Given the description of an element on the screen output the (x, y) to click on. 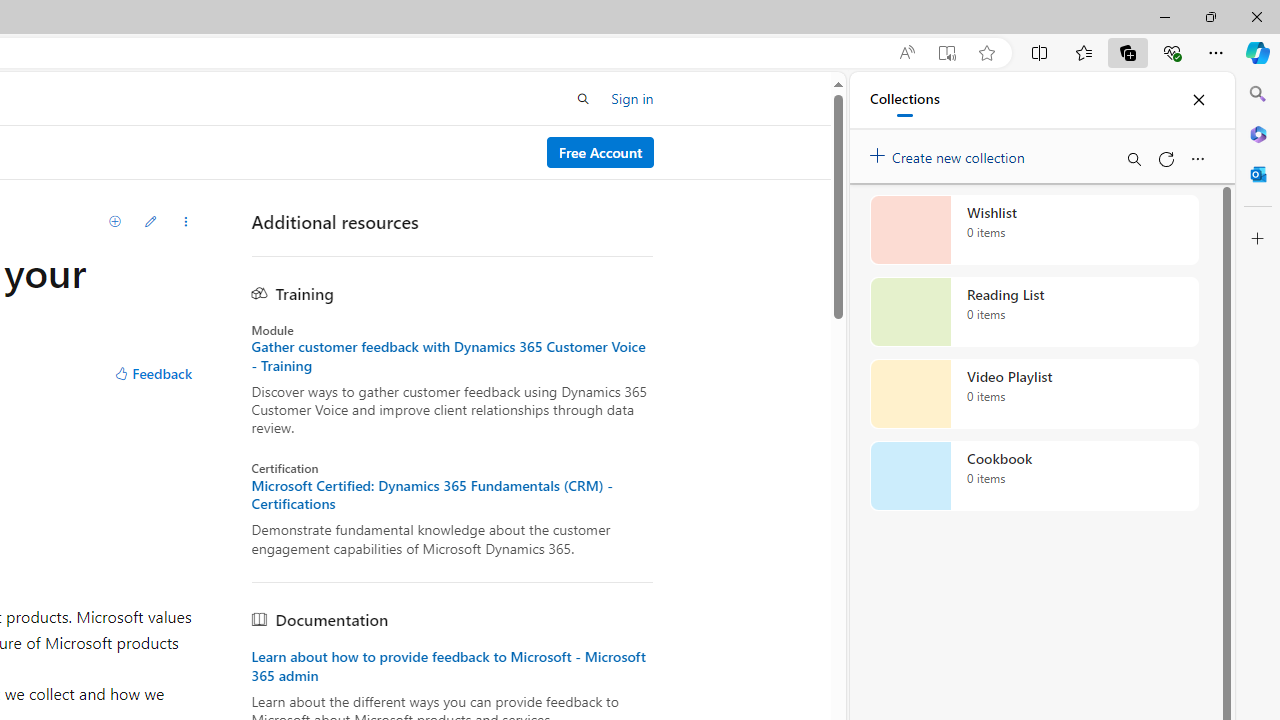
Enter Immersive Reader (F9) (946, 53)
Collections (1128, 52)
Add this page to favorites (Ctrl+D) (986, 53)
